Given the description of an element on the screen output the (x, y) to click on. 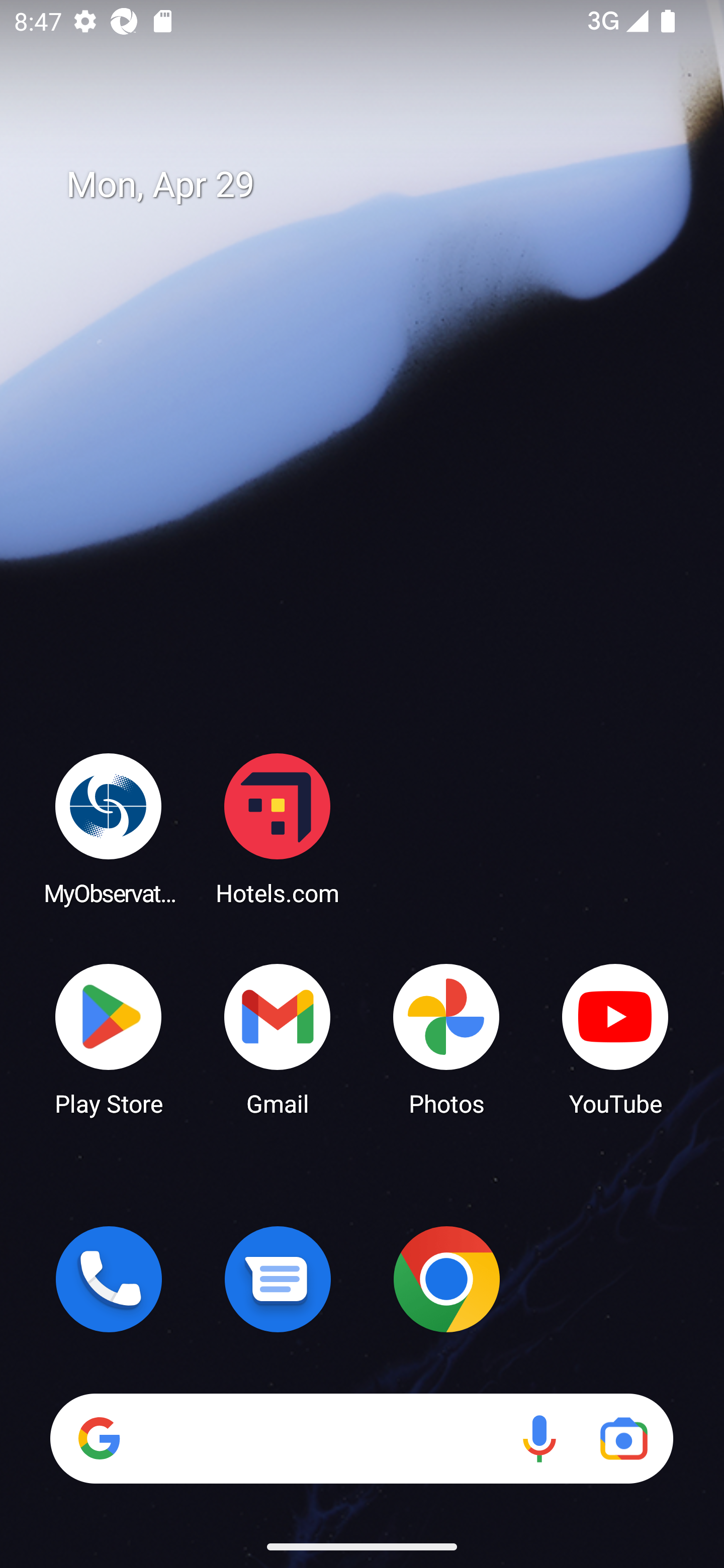
Mon, Apr 29 (375, 184)
MyObservatory (108, 828)
Hotels.com (277, 828)
Play Store (108, 1038)
Gmail (277, 1038)
Photos (445, 1038)
YouTube (615, 1038)
Phone (108, 1279)
Messages (277, 1279)
Chrome (446, 1279)
Search Voice search Google Lens (361, 1438)
Voice search (539, 1438)
Google Lens (623, 1438)
